Given the description of an element on the screen output the (x, y) to click on. 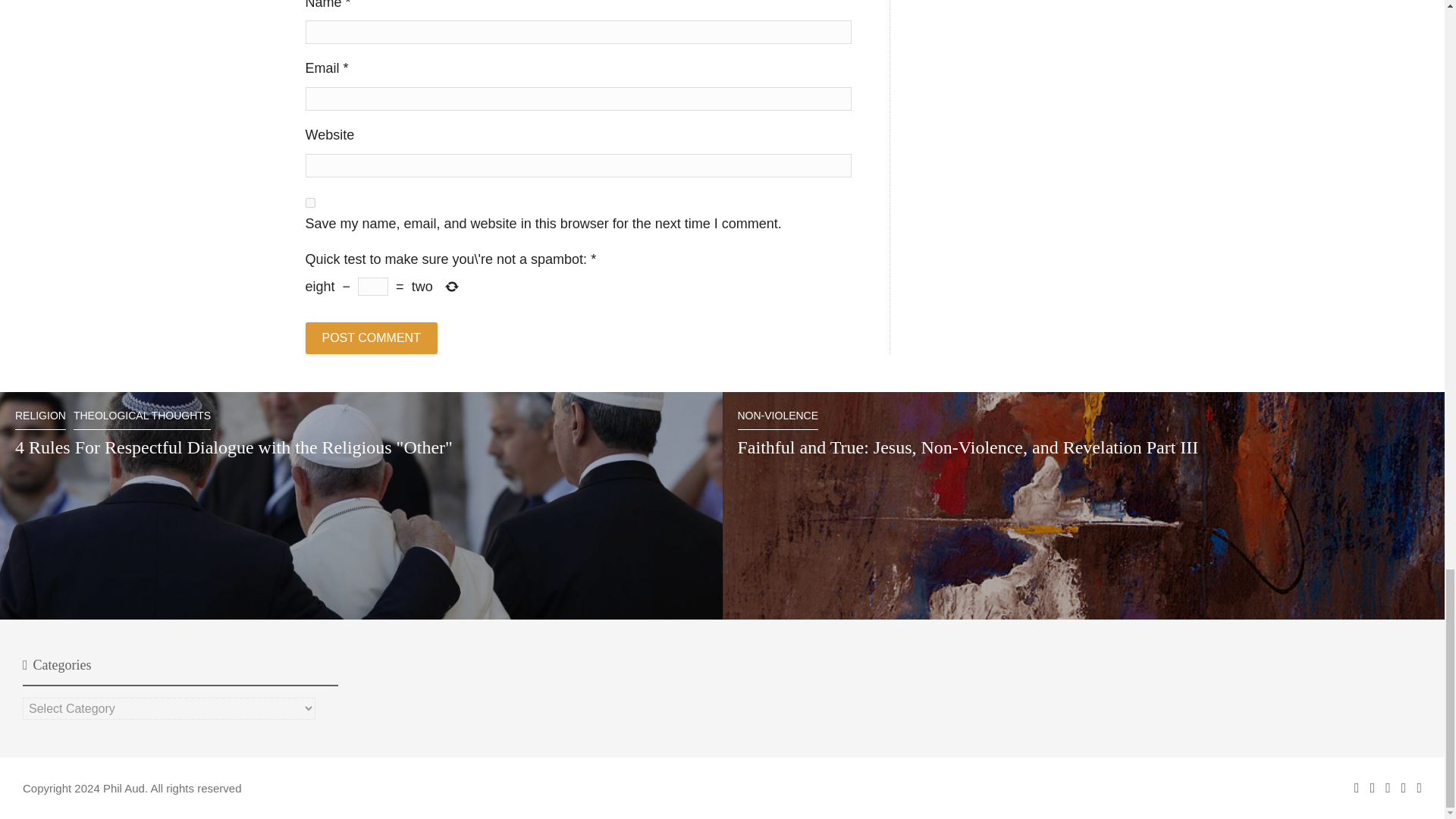
Post Comment (370, 337)
NON-VIOLENCE (777, 419)
RELIGION (39, 419)
Post Comment (370, 337)
4 Rules For Respectful Dialogue with the Religious "Other" (233, 447)
yes (309, 203)
THEOLOGICAL THOUGHTS (142, 419)
